Given the description of an element on the screen output the (x, y) to click on. 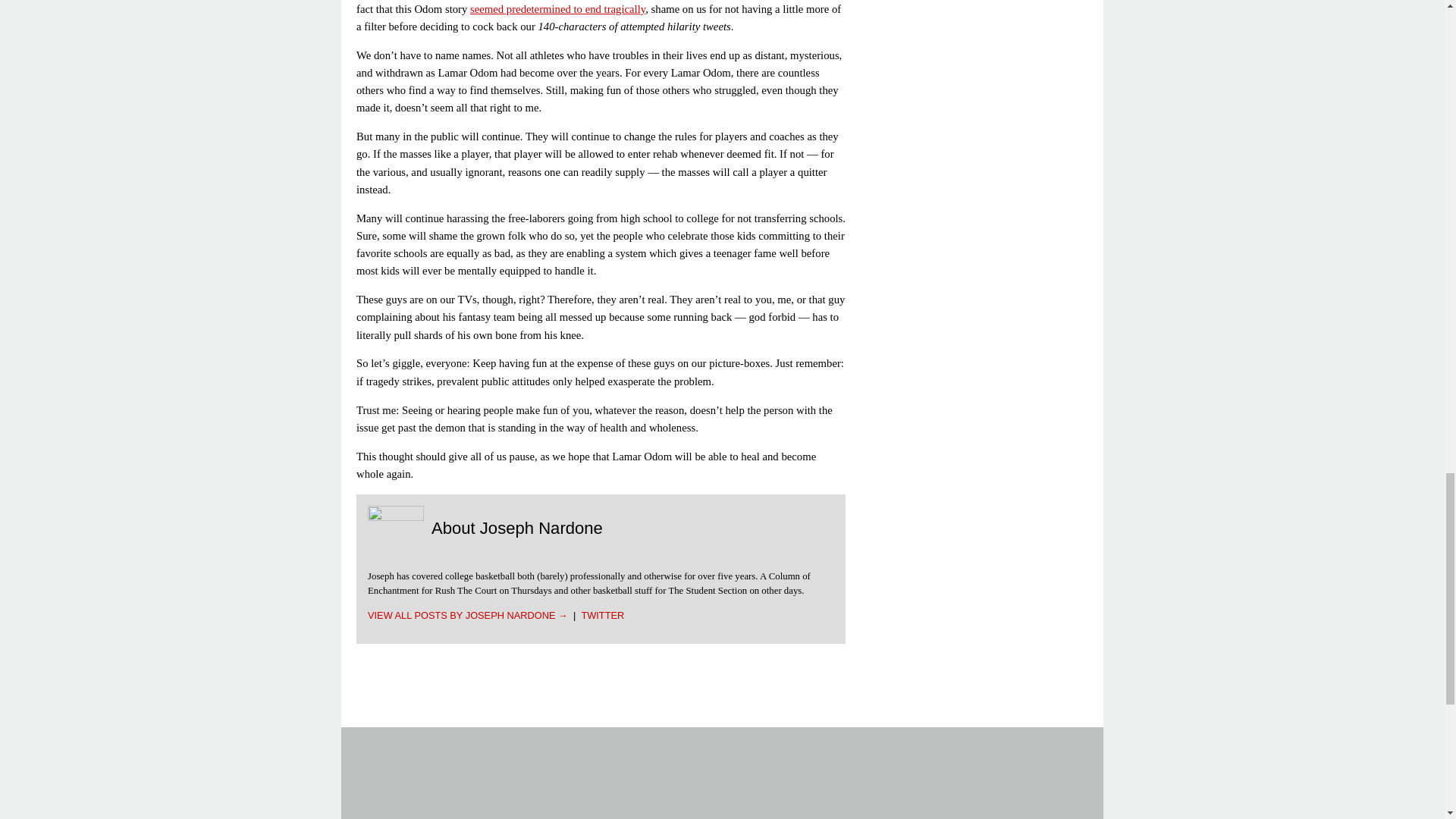
TWITTER (602, 614)
seemed predetermined to end tragically (557, 9)
